Given the description of an element on the screen output the (x, y) to click on. 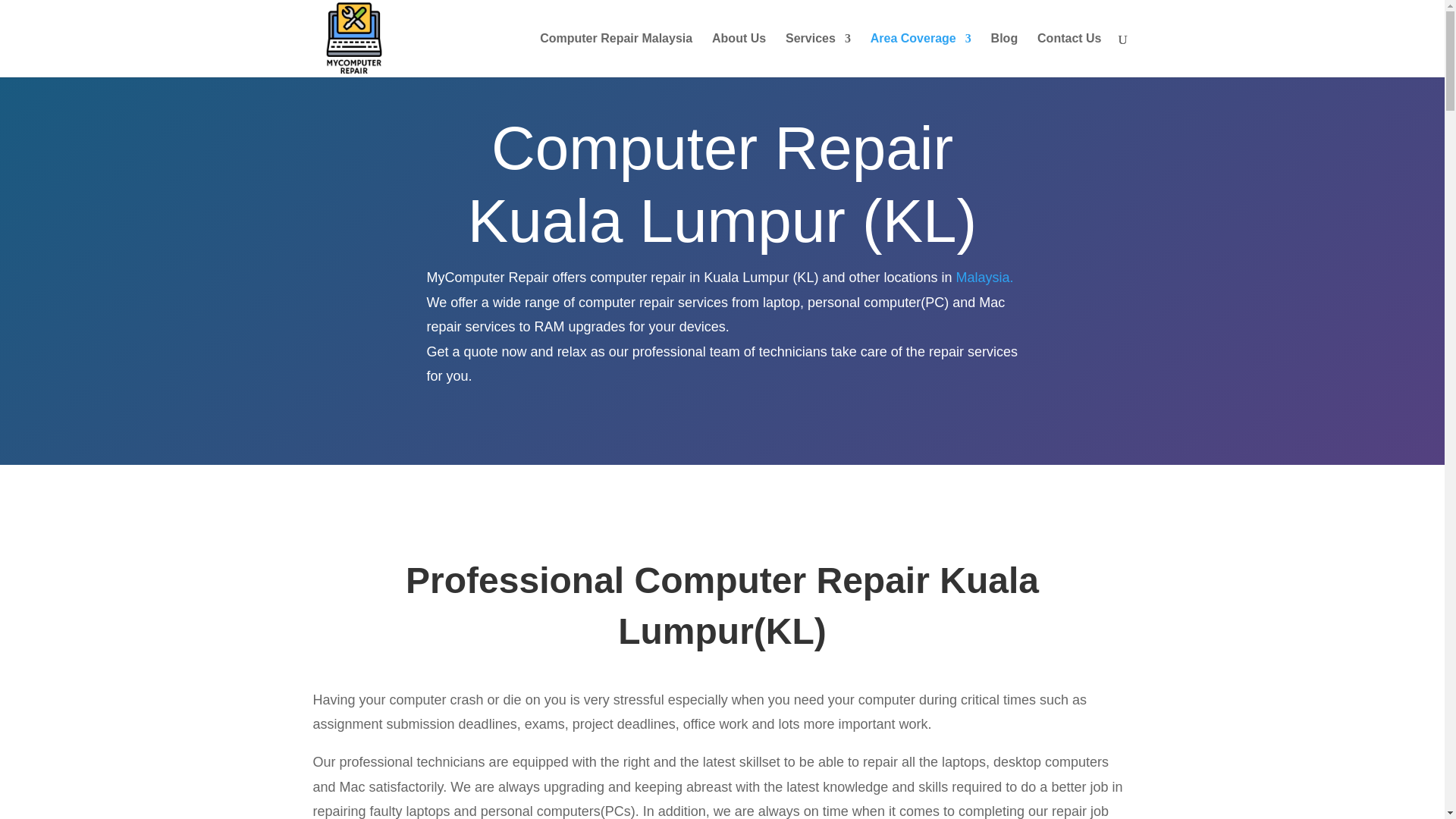
About Us (738, 54)
Services (818, 54)
Computer Repair Malaysia (616, 54)
Area Coverage (920, 54)
